Given the description of an element on the screen output the (x, y) to click on. 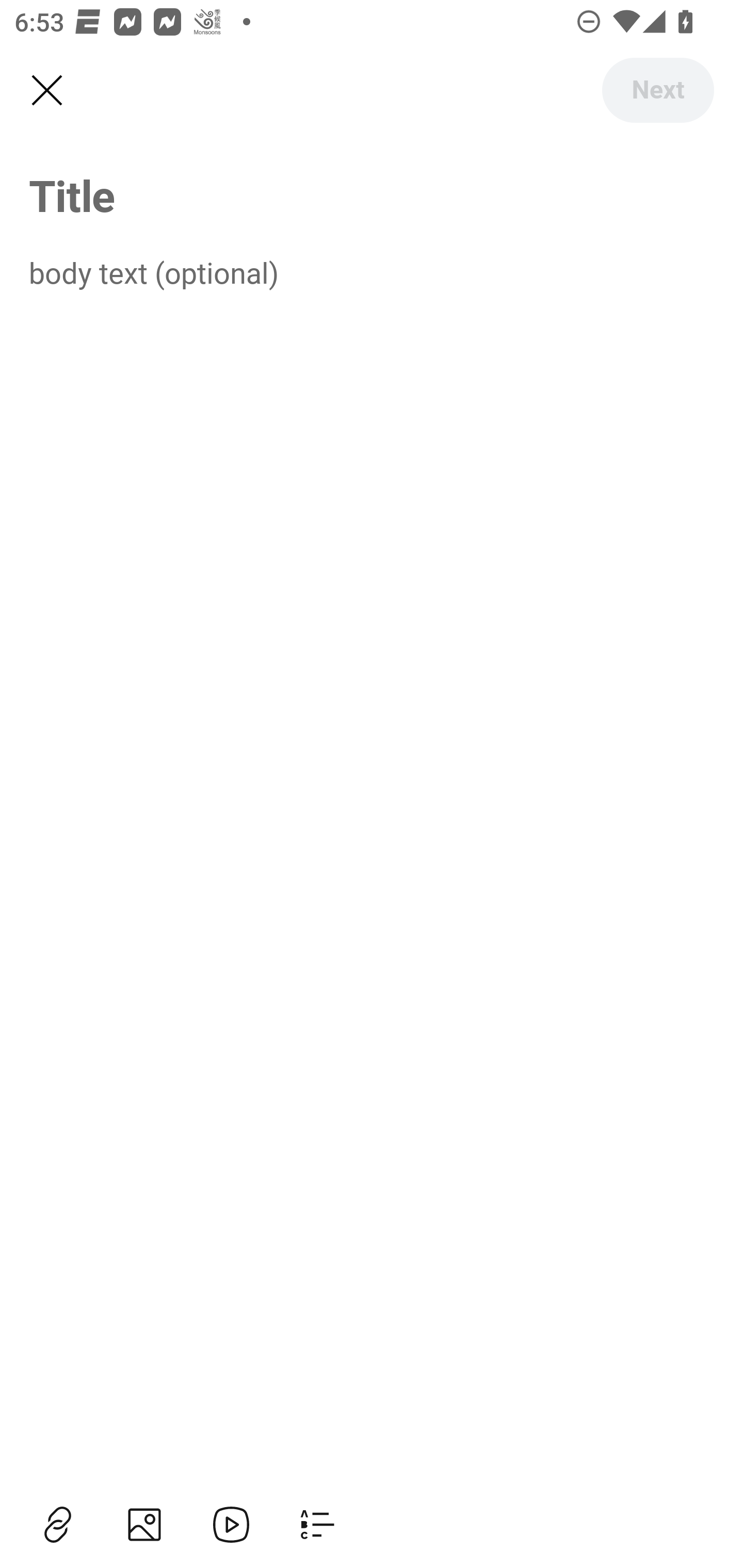
Close (46, 90)
Next (657, 90)
Post title (371, 195)
body text (optional) (371, 271)
